Given the description of an element on the screen output the (x, y) to click on. 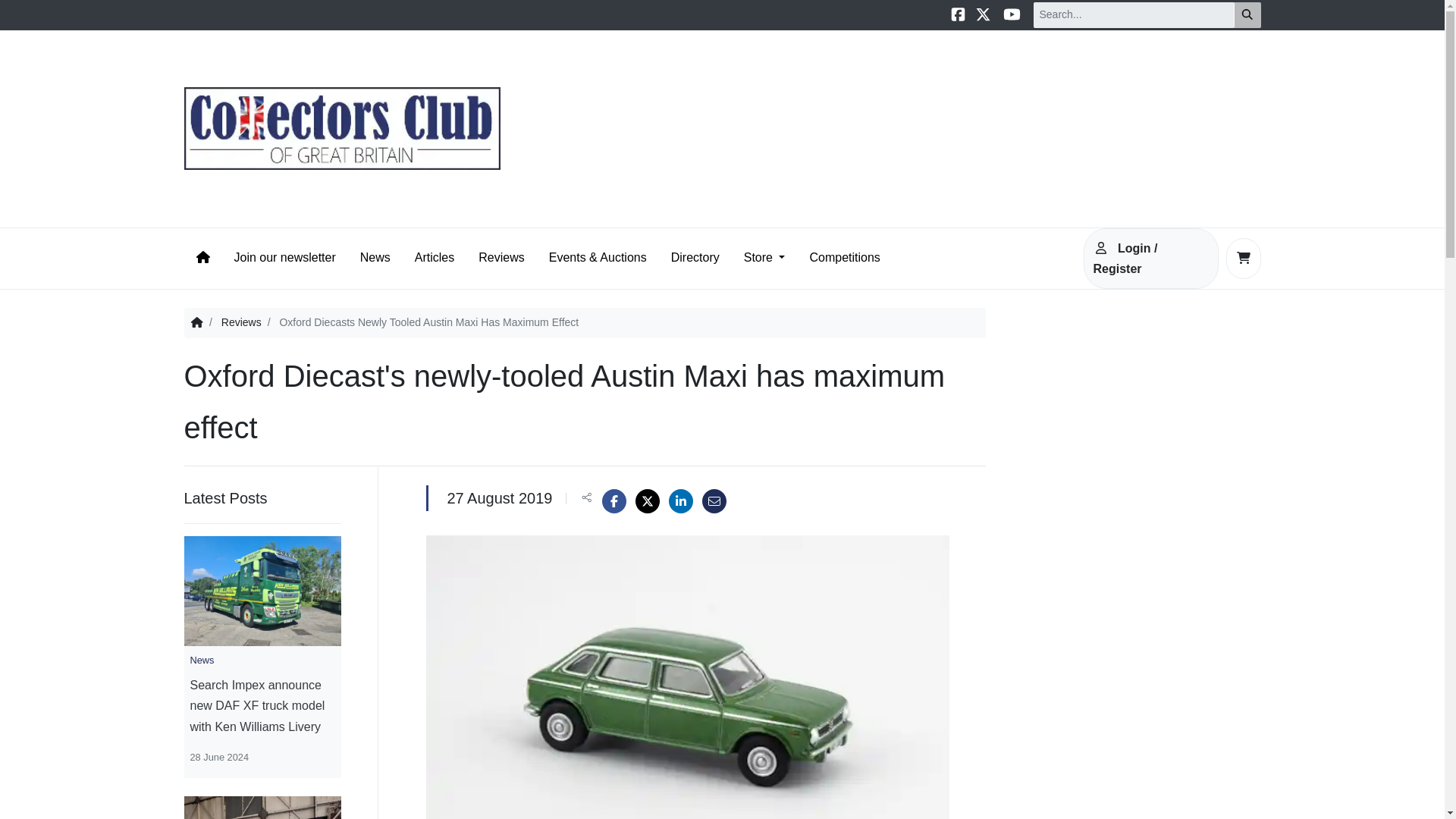
Competitions (844, 257)
Join our newsletter (283, 257)
Reviews (241, 322)
Store (765, 257)
Directory (695, 257)
Reviews (500, 257)
Articles (434, 257)
News (374, 257)
